Given the description of an element on the screen output the (x, y) to click on. 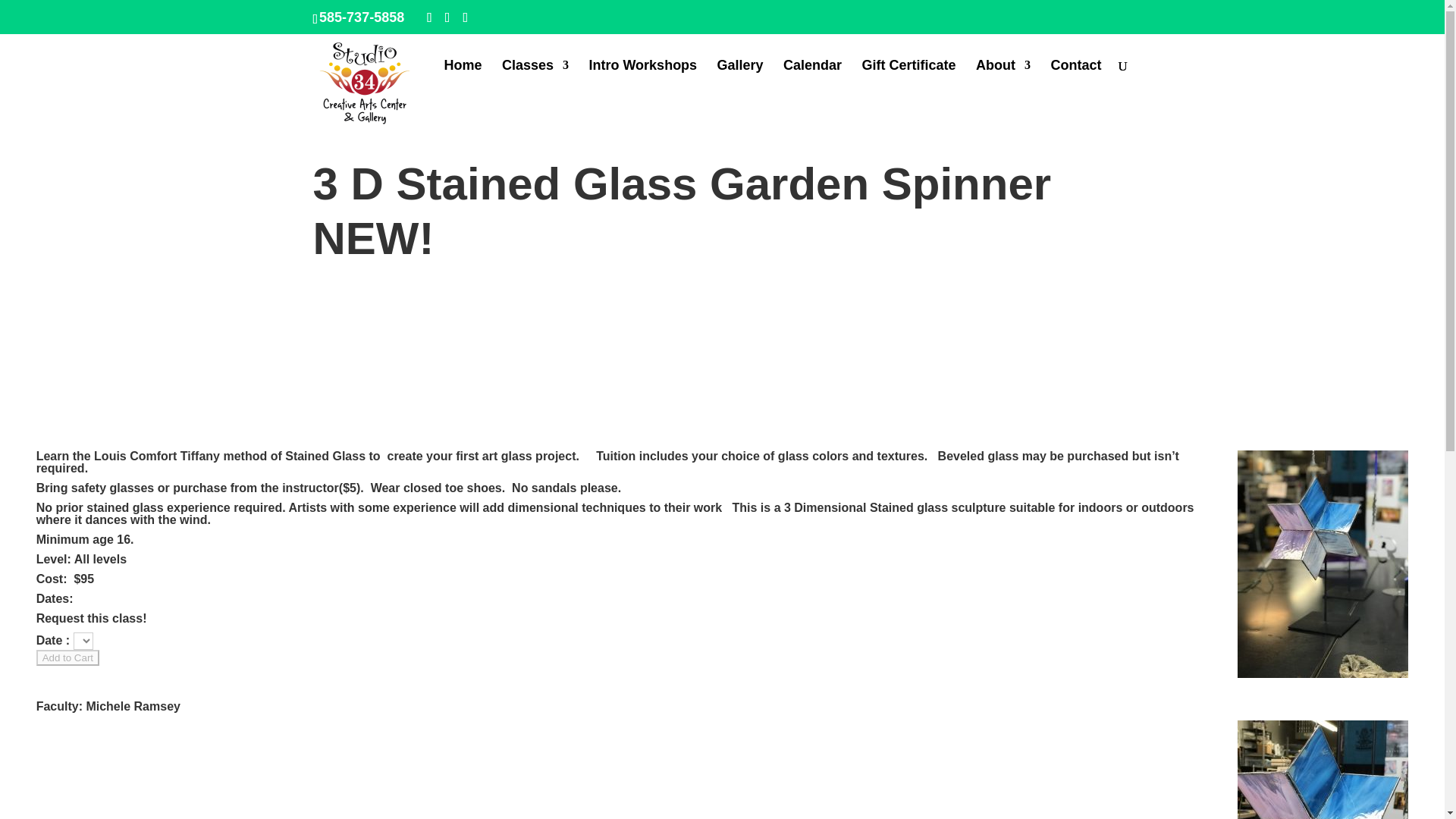
Classes (535, 77)
Gift Certificate (908, 77)
Home (462, 77)
Gallery (739, 77)
Add to Cart (67, 657)
Intro Workshops (642, 77)
Calendar (812, 77)
About (1002, 77)
Contact (1076, 77)
